Given the description of an element on the screen output the (x, y) to click on. 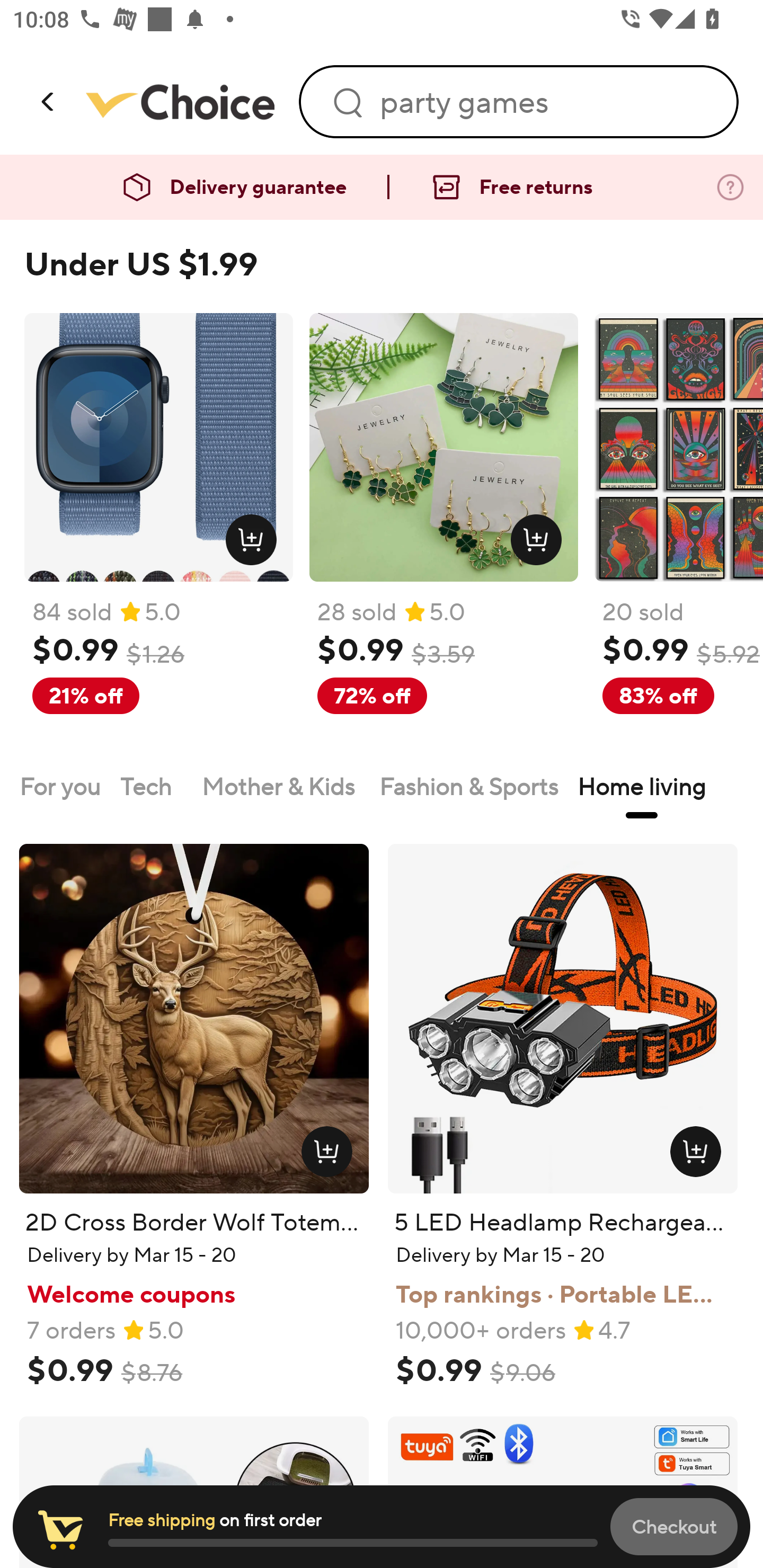
party games (546, 101)
 (48, 100)
Delivery guarantee Free returns (381, 187)
84 sold 5.0 $_0.99 $_1.26 21% off (158, 533)
28 sold 5.0 $_0.99 $_3.59 72% off (443, 533)
20 sold $_0.99 $_5.92 83% off (678, 533)
For you (59, 786)
Tech   (150, 786)
Mother & Kids  (280, 786)
Fashion & Sports (468, 786)
Home living (641, 786)
Free shipping on first order 0.0 Checkout (381, 1526)
Checkout (673, 1526)
